Given the description of an element on the screen output the (x, y) to click on. 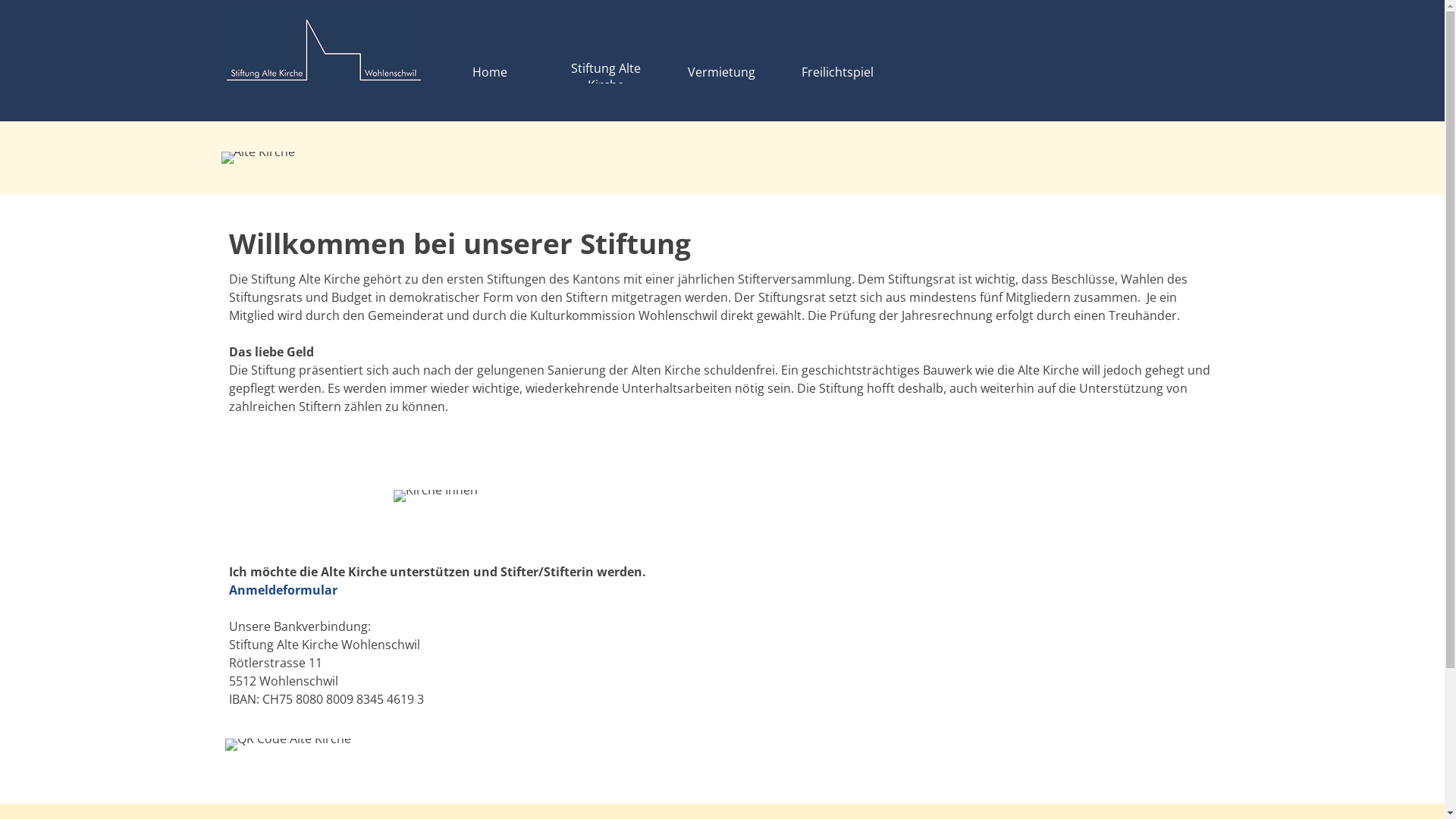
Anmeldeformular Element type: text (283, 589)
Vermietung Element type: text (721, 71)
Home Element type: text (488, 71)
